Given the description of an element on the screen output the (x, y) to click on. 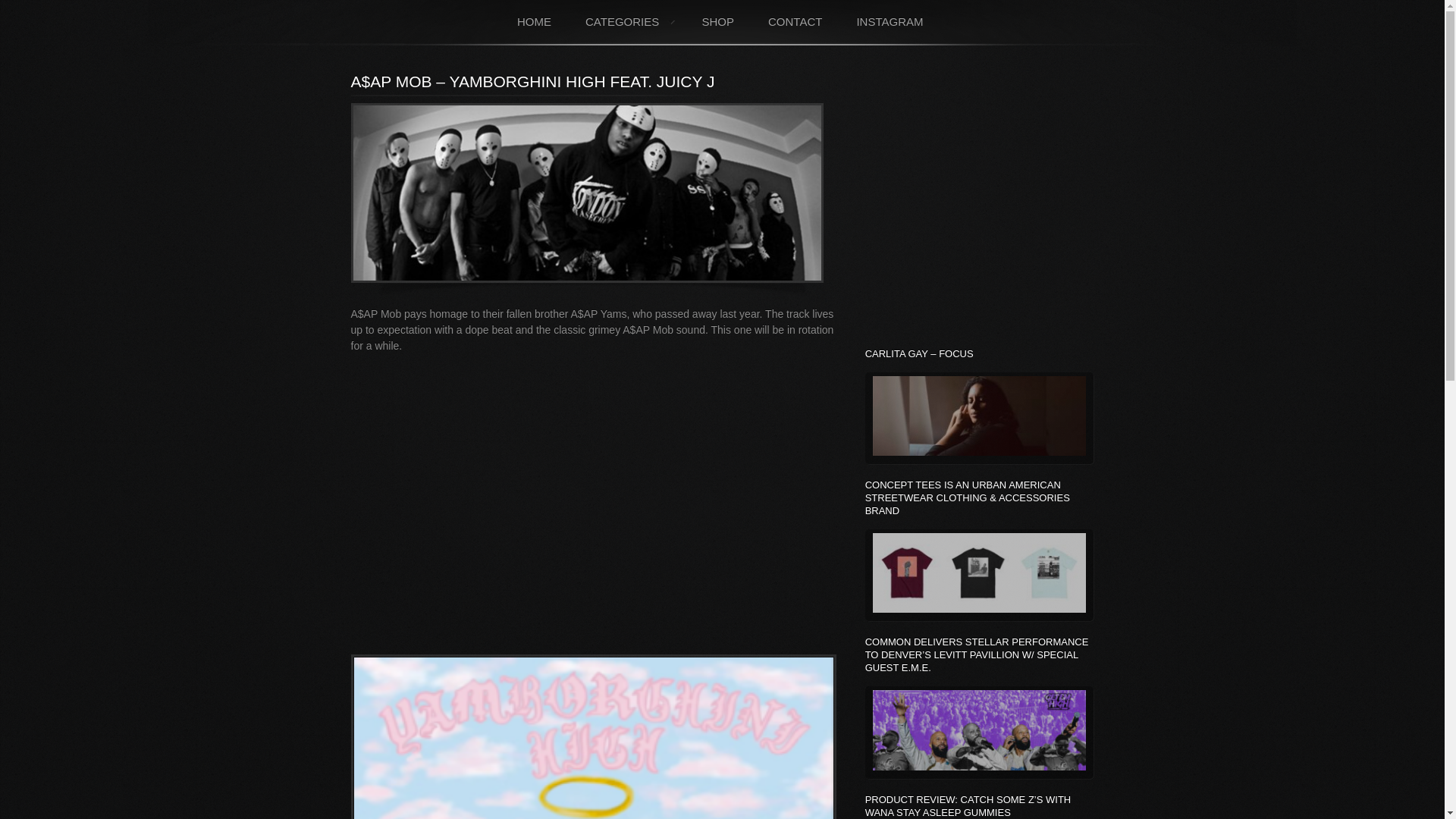
INSTAGRAM (890, 21)
HOME (534, 21)
SHOP (717, 21)
contact (795, 21)
CONTACT (795, 21)
